Given the description of an element on the screen output the (x, y) to click on. 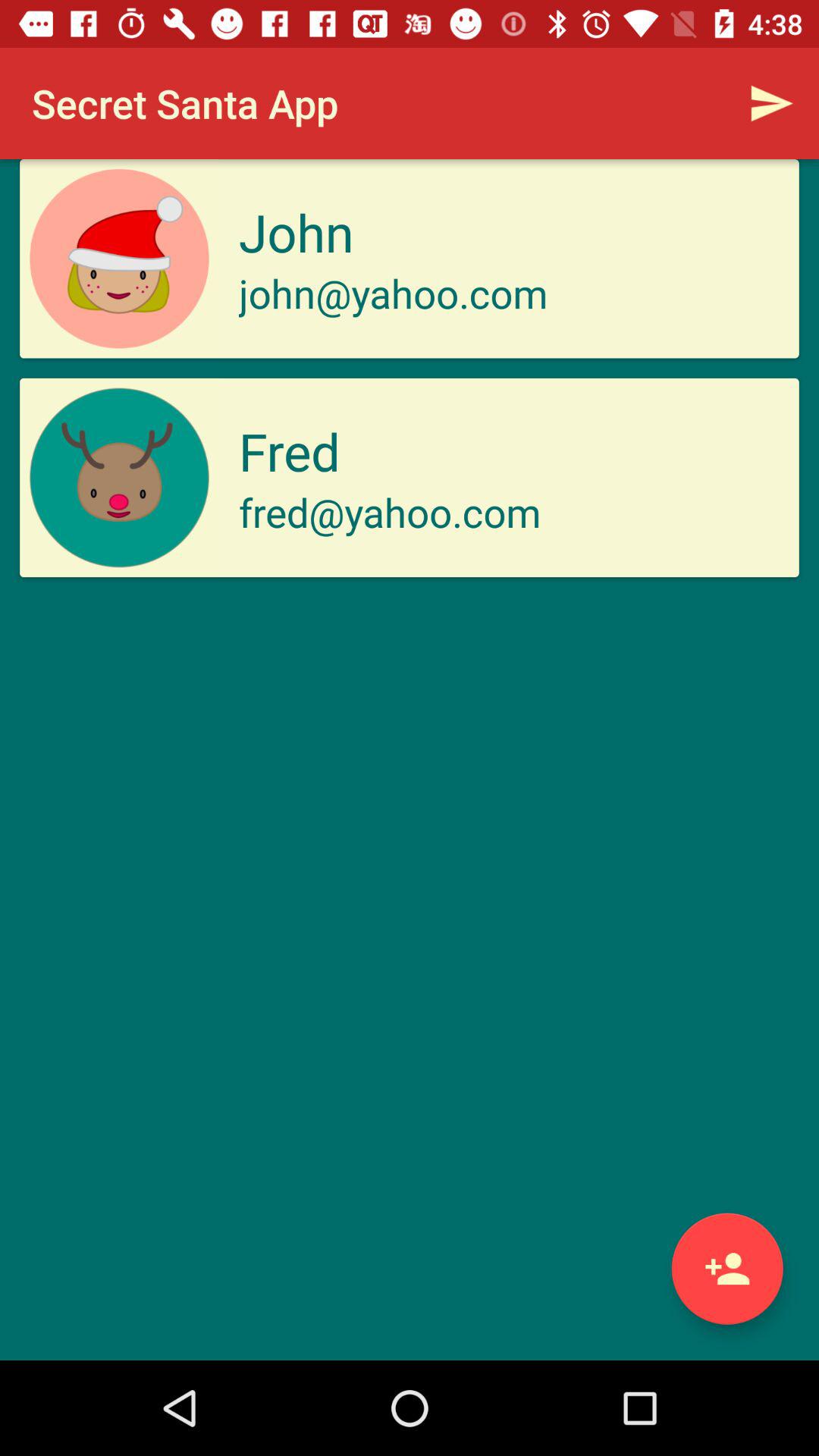
add friend (727, 1268)
